Given the description of an element on the screen output the (x, y) to click on. 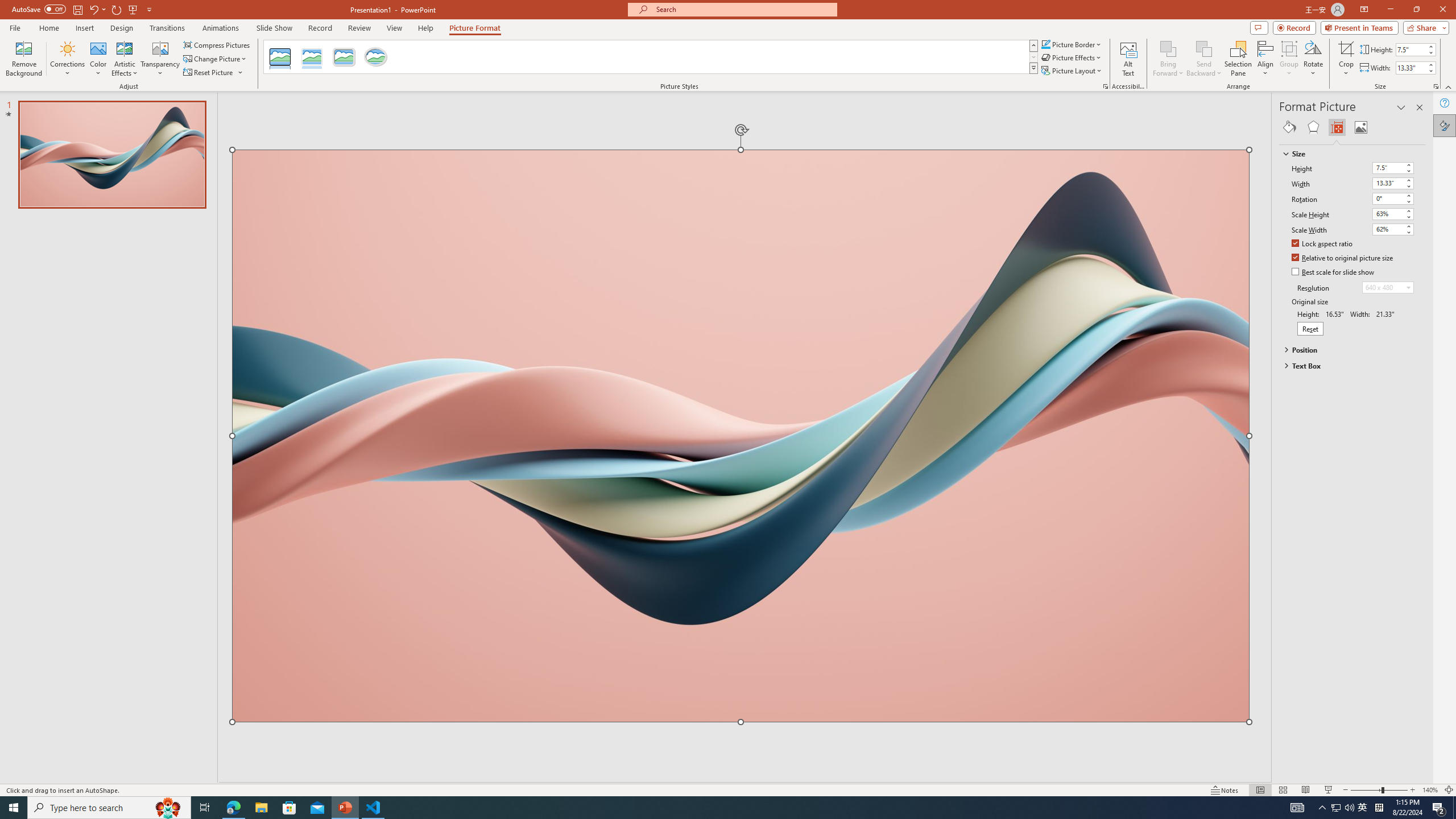
Rotation (1393, 198)
Best scale for slide show (1333, 272)
Resolution (1387, 287)
Position (1347, 349)
Change Picture (216, 58)
Picture Border Blue, Accent 1 (1045, 44)
Picture (1361, 126)
Relative to original picture size (1342, 258)
